Given the description of an element on the screen output the (x, y) to click on. 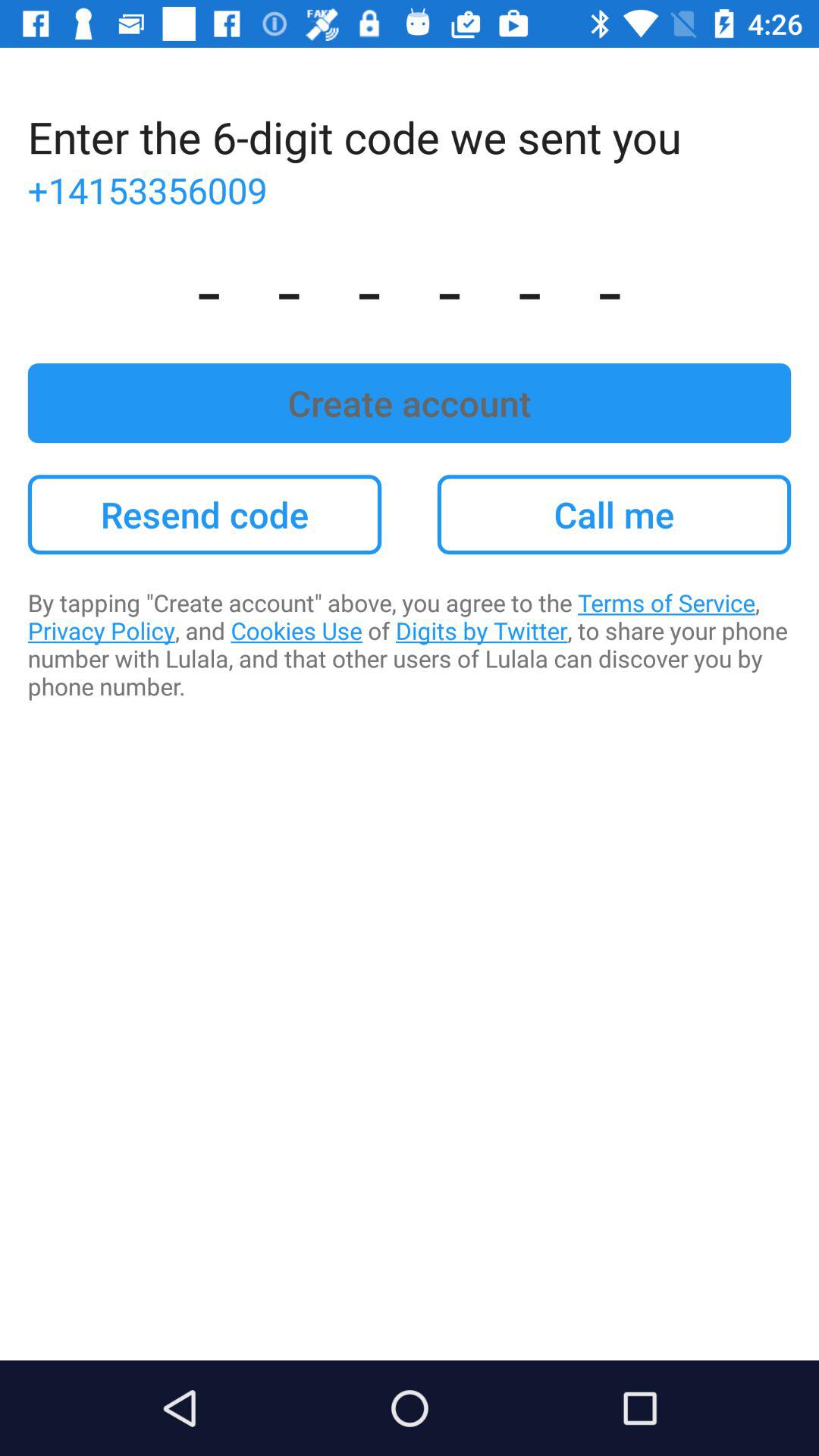
open the +14153356009 (409, 190)
